Given the description of an element on the screen output the (x, y) to click on. 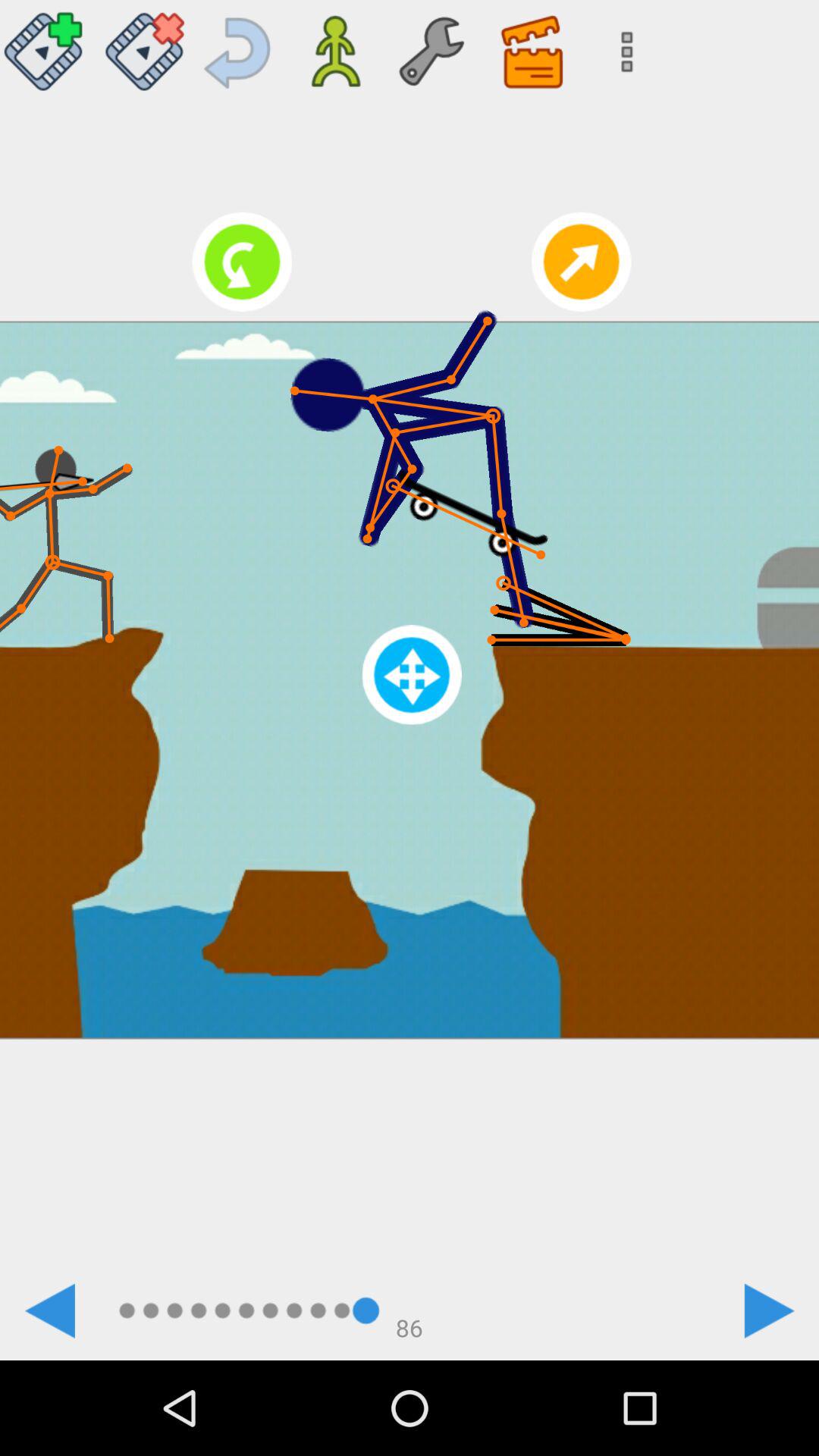
revert undo something (239, 45)
